Given the description of an element on the screen output the (x, y) to click on. 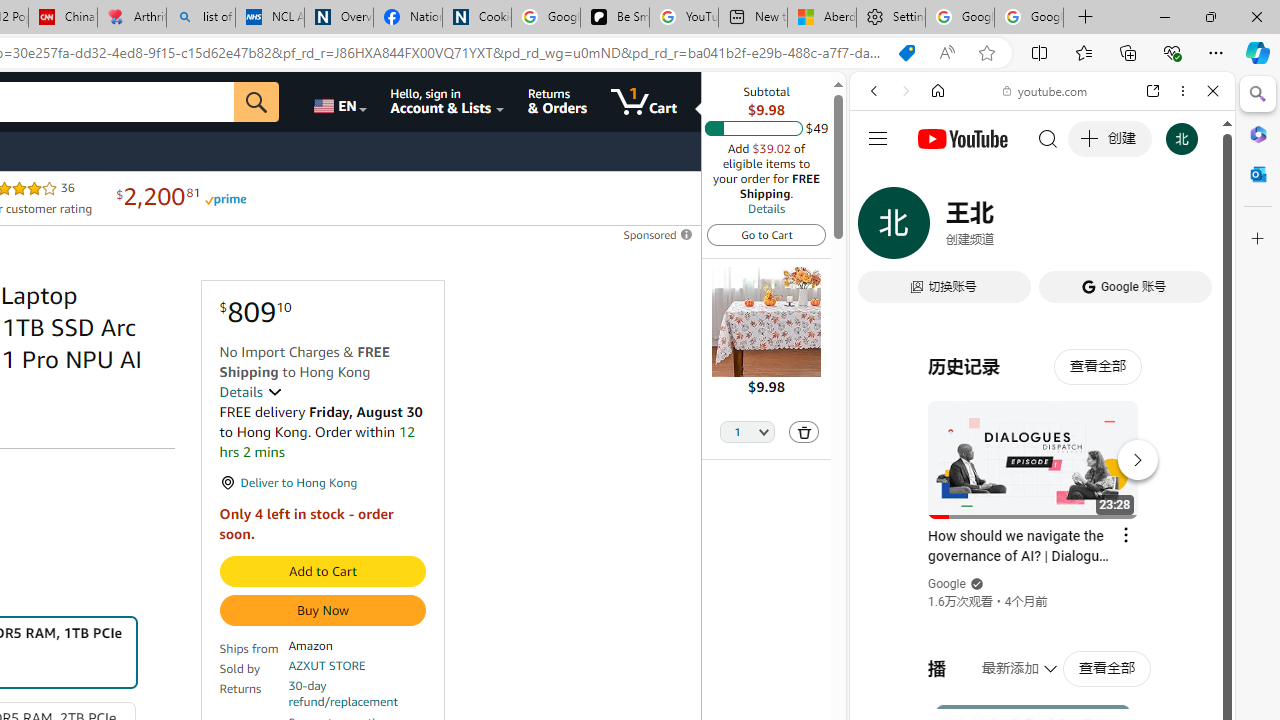
1 item in cart (643, 101)
